Given the description of an element on the screen output the (x, y) to click on. 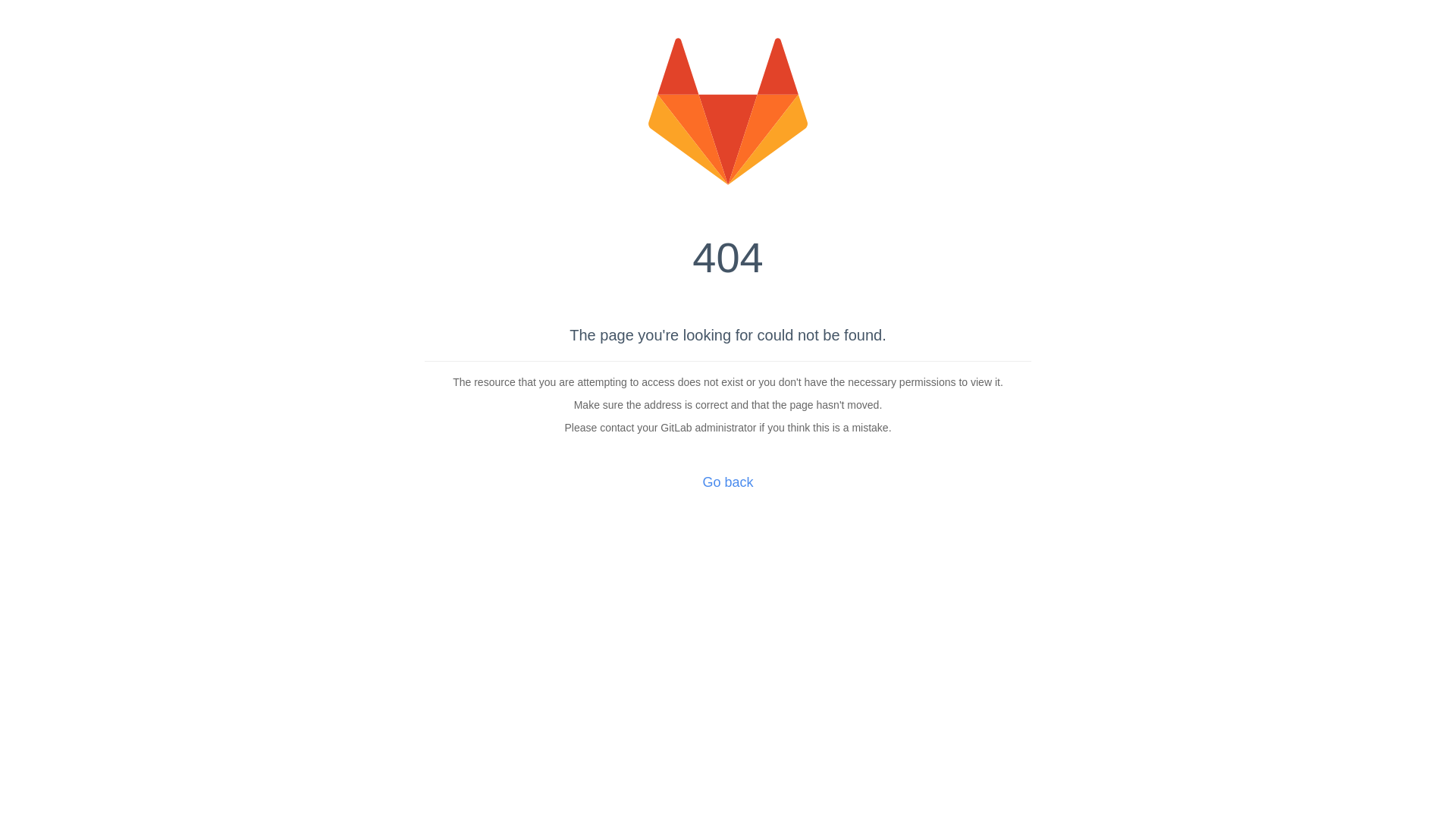
Go back Element type: text (727, 481)
